Given the description of an element on the screen output the (x, y) to click on. 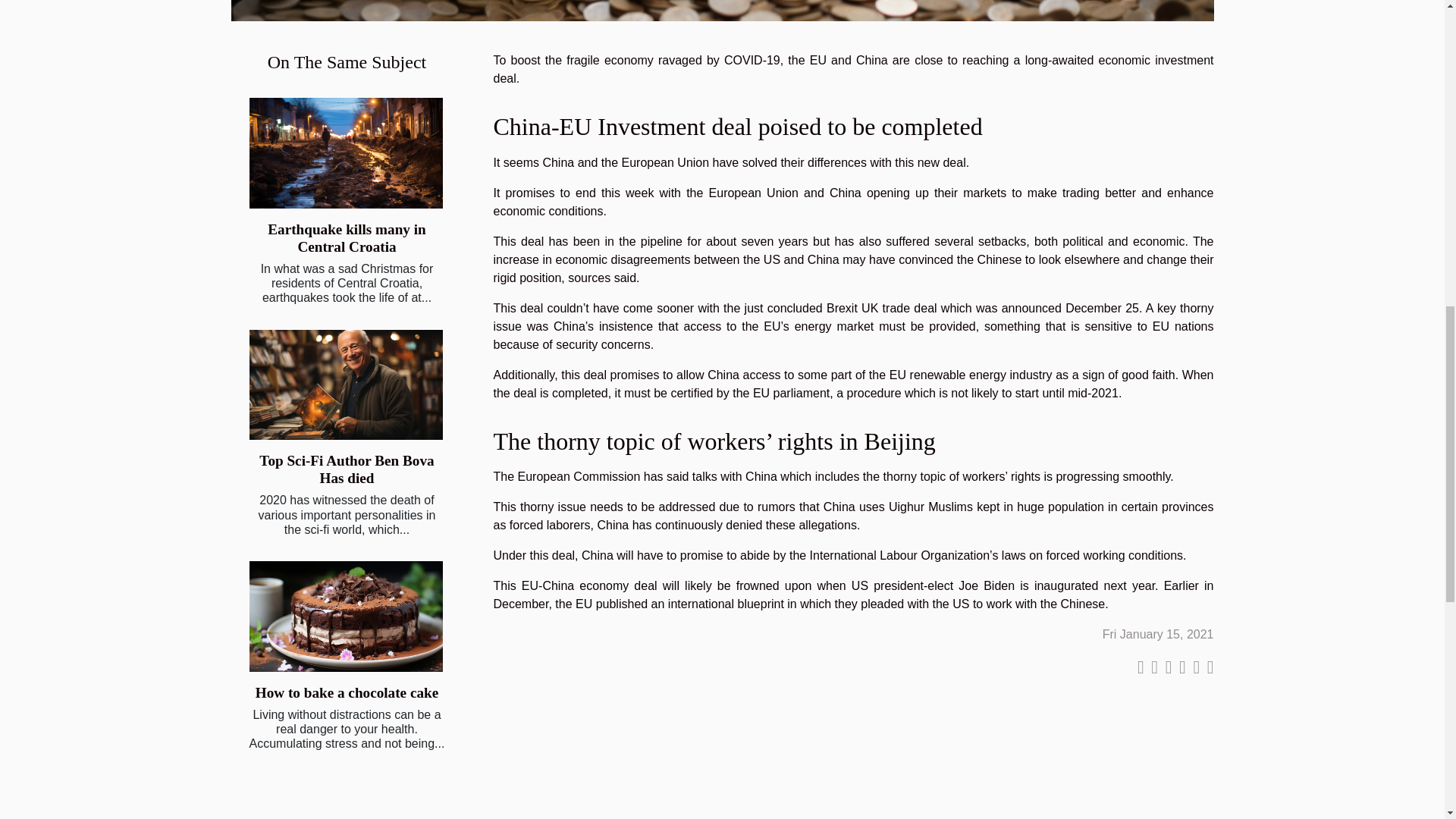
Earthquake kills many in Central Croatia (345, 152)
How to bake a chocolate cake (347, 692)
How to bake a chocolate cake (347, 692)
Top Sci-Fi Author Ben Bova Has died (346, 469)
How to bake a chocolate cake (345, 616)
Earthquake kills many in Central Croatia (346, 237)
Top Sci-Fi Author Ben Bova Has died (345, 385)
Earthquake kills many in Central Croatia (346, 237)
Top Sci-Fi Author Ben Bova Has died (346, 469)
